Given the description of an element on the screen output the (x, y) to click on. 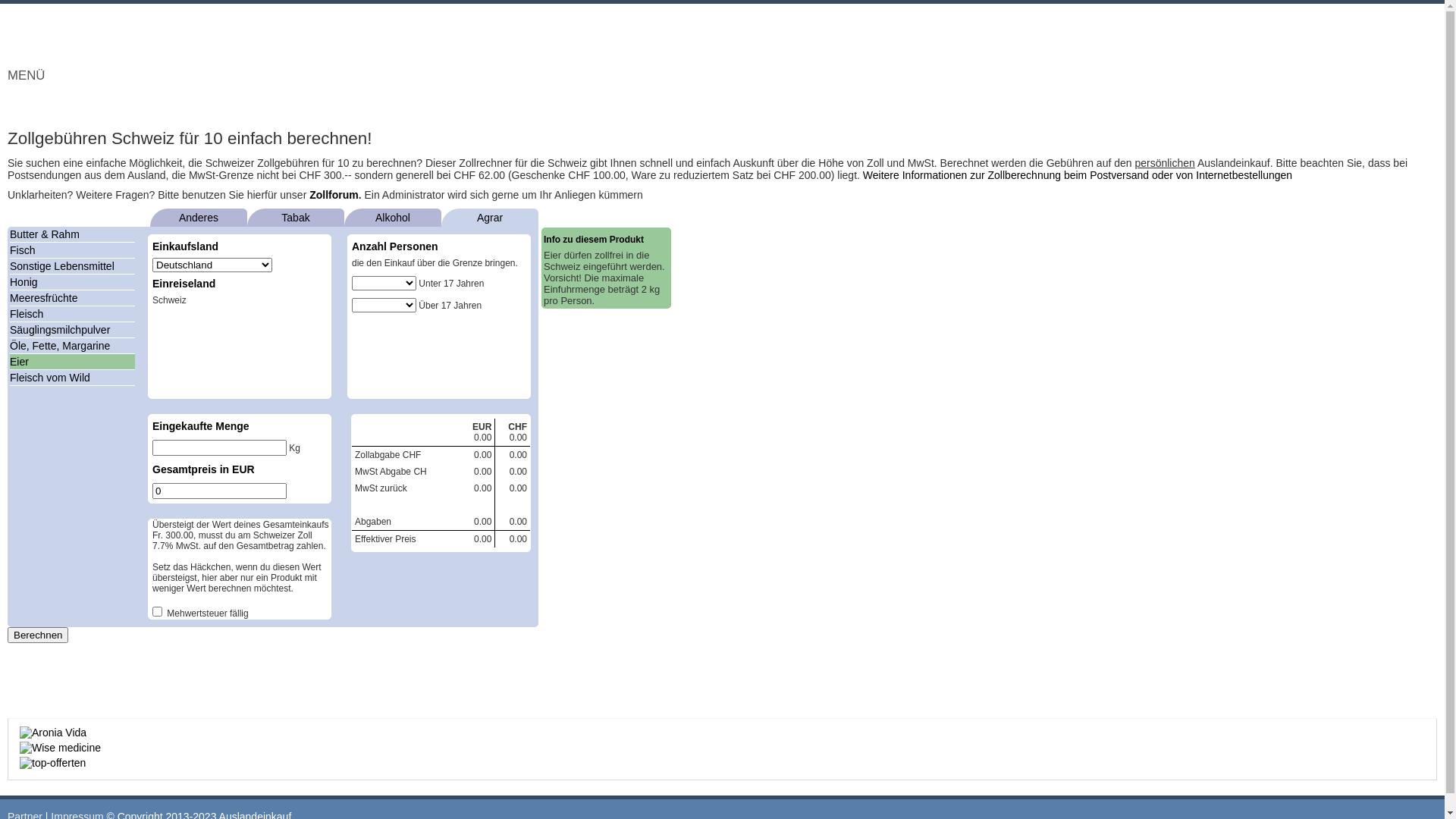
Berechnen Element type: text (37, 635)
Butter & Rahm Element type: text (44, 234)
Eier Element type: text (18, 361)
Zollforum Element type: text (333, 194)
top-offerten Element type: hover (52, 762)
Sonstige Lebensmittel Element type: text (61, 266)
Wisemed Element type: hover (59, 747)
Fleisch Element type: text (26, 313)
Tabak Element type: text (295, 217)
Fleisch vom Wild Element type: text (49, 377)
Fisch Element type: text (21, 250)
Agrar Element type: text (489, 217)
Honig Element type: text (23, 282)
kingnature Element type: hover (52, 732)
Anderes Element type: text (198, 217)
Alkohol Element type: text (392, 217)
